Given the description of an element on the screen output the (x, y) to click on. 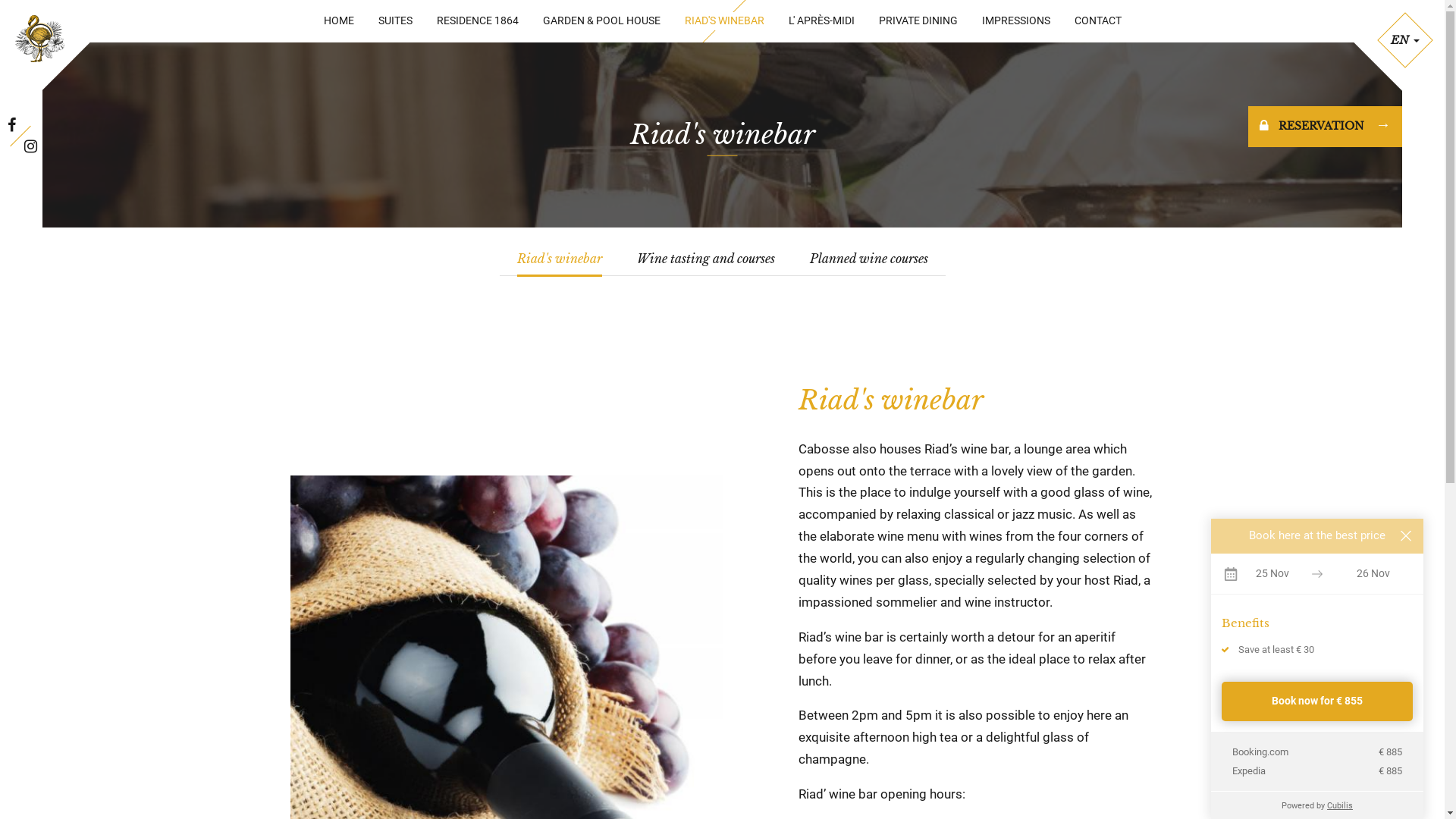
Cubilis Element type: text (1339, 805)
Wine tasting and courses Element type: text (706, 258)
Riad's winebar Element type: text (559, 258)
EN Element type: text (1404, 39)
RIAD'S WINEBAR Element type: text (723, 21)
RESIDENCE 1864 Element type: text (477, 21)
PRIVATE DINING Element type: text (917, 21)
Get directions Element type: text (350, 740)
CONTACT Element type: text (1096, 21)
Planned wine courses Element type: text (868, 258)
SUITES Element type: text (394, 21)
GARDEN & POOL HOUSE Element type: text (601, 21)
IMPRESSIONS Element type: text (1015, 21)
RESERVATION Element type: text (1325, 126)
HOME Element type: text (338, 21)
